Given the description of an element on the screen output the (x, y) to click on. 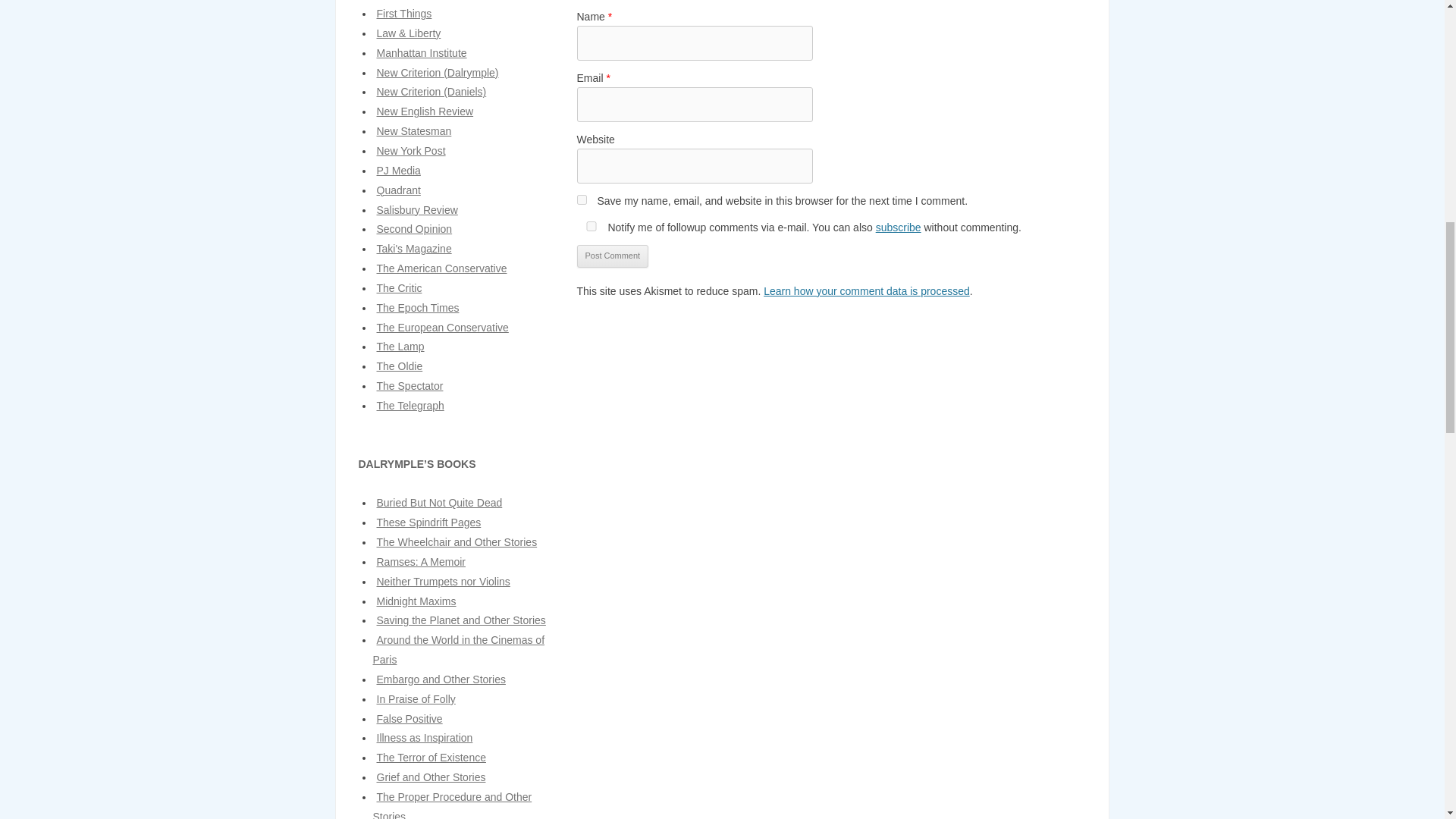
yes (590, 225)
yes (581, 199)
Post Comment (611, 255)
